Given the description of an element on the screen output the (x, y) to click on. 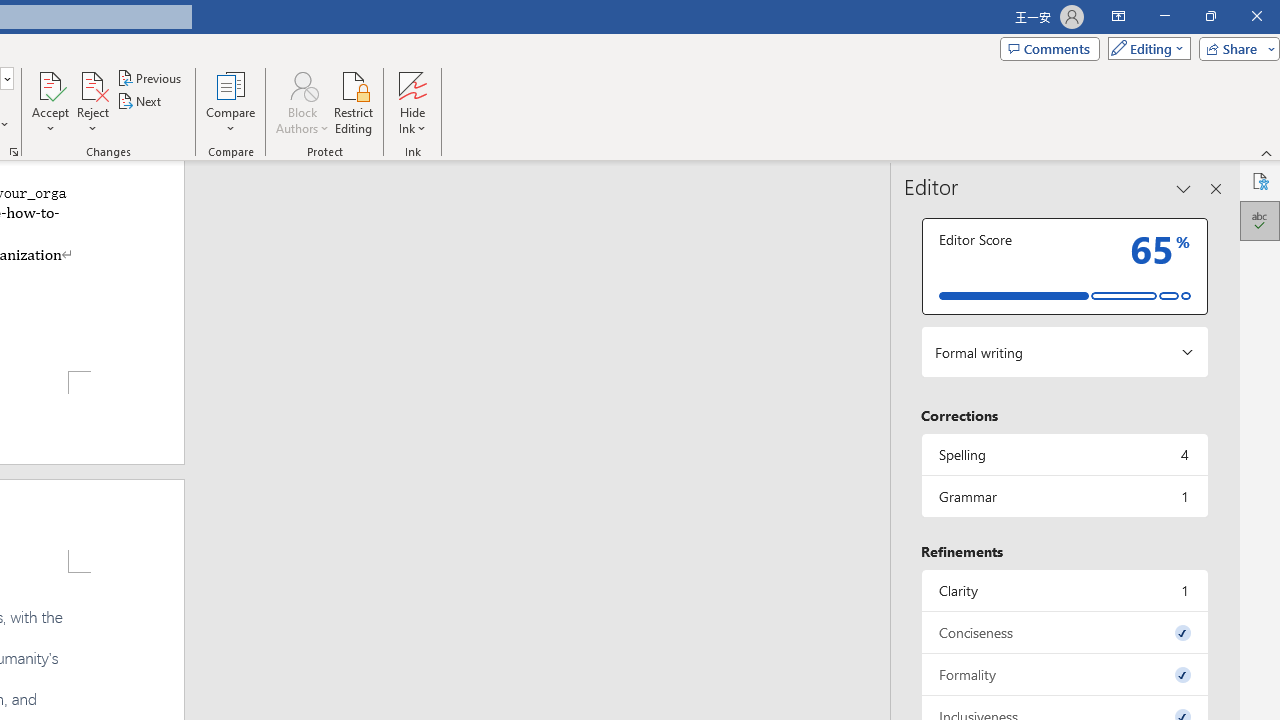
Hide Ink (412, 102)
Block Authors (302, 102)
Reject and Move to Next (92, 84)
Formality, 0 issues. Press space or enter to review items. (1064, 673)
Compare (230, 102)
